Given the description of an element on the screen output the (x, y) to click on. 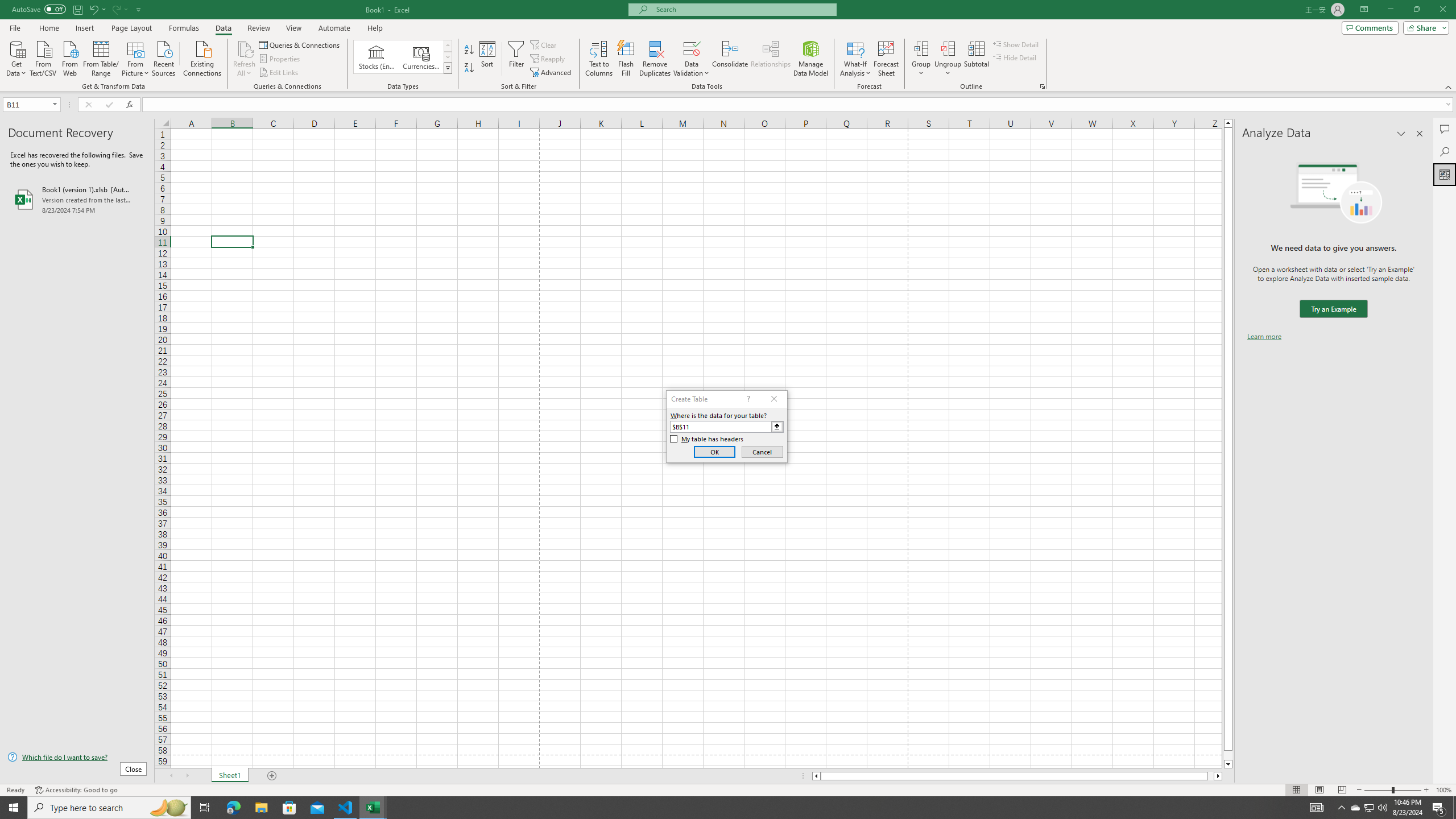
Row Down (448, 56)
